Given the description of an element on the screen output the (x, y) to click on. 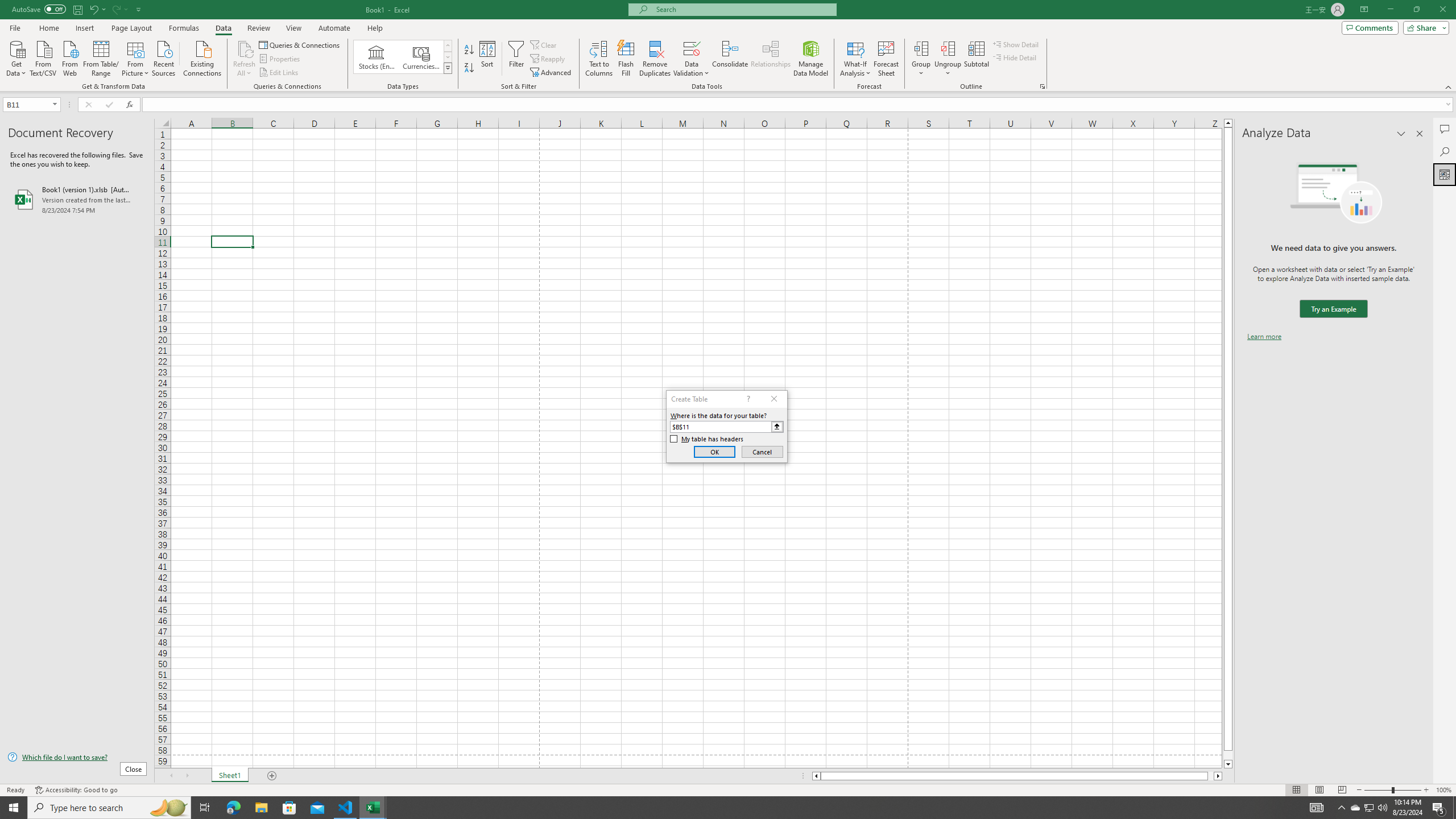
We need data to give you answers. Try an Example (1333, 308)
Sort Z to A (469, 67)
Row up (448, 45)
Properties (280, 58)
Existing Connections (202, 57)
